Given the description of an element on the screen output the (x, y) to click on. 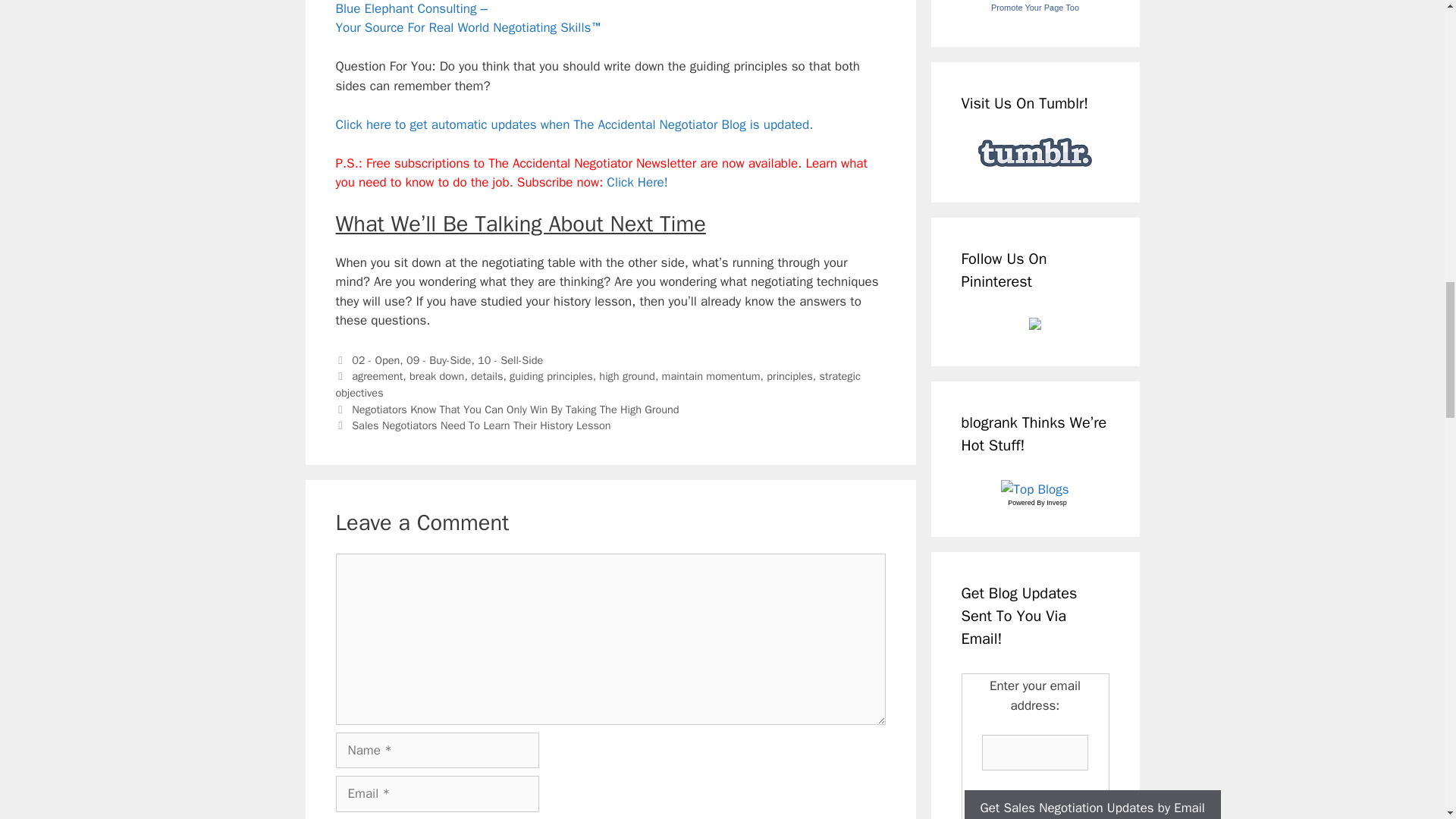
agreement (377, 376)
Click Here! (636, 182)
Subscribe to my feed (573, 124)
Get Sales Negotiation Updates by Email (1092, 804)
maintain momentum (711, 376)
Sales Negotiators Need To Learn Their History Lesson (481, 425)
guiding principles (550, 376)
10 - Sell-Side (510, 359)
Make your own badge! (1034, 7)
Subscribe to The Accidental Negotiator Newsletter (636, 182)
details (486, 376)
02 - Open (375, 359)
principles (789, 376)
high ground (626, 376)
